Given the description of an element on the screen output the (x, y) to click on. 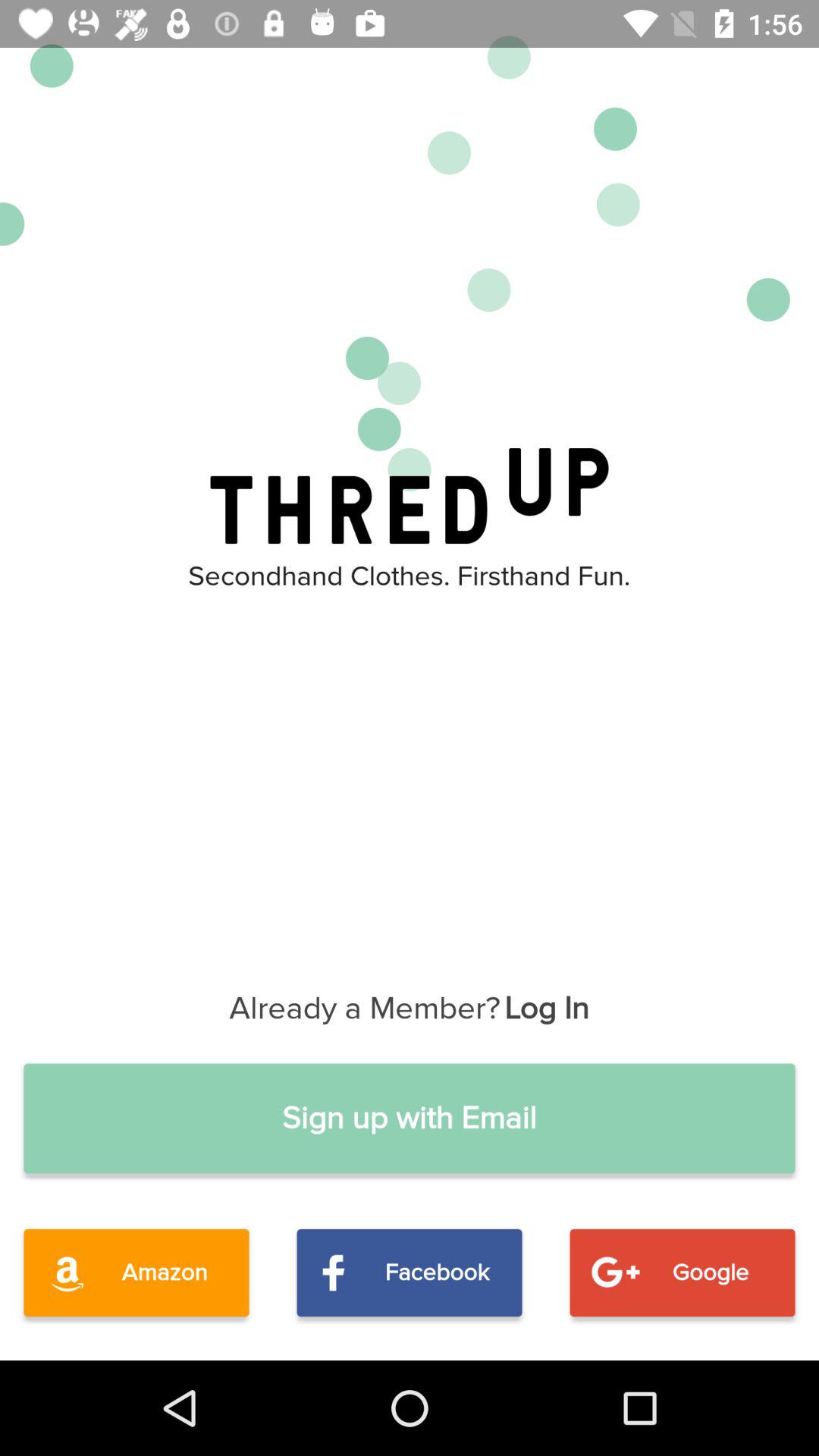
click the item above the amazon item (409, 1118)
